Given the description of an element on the screen output the (x, y) to click on. 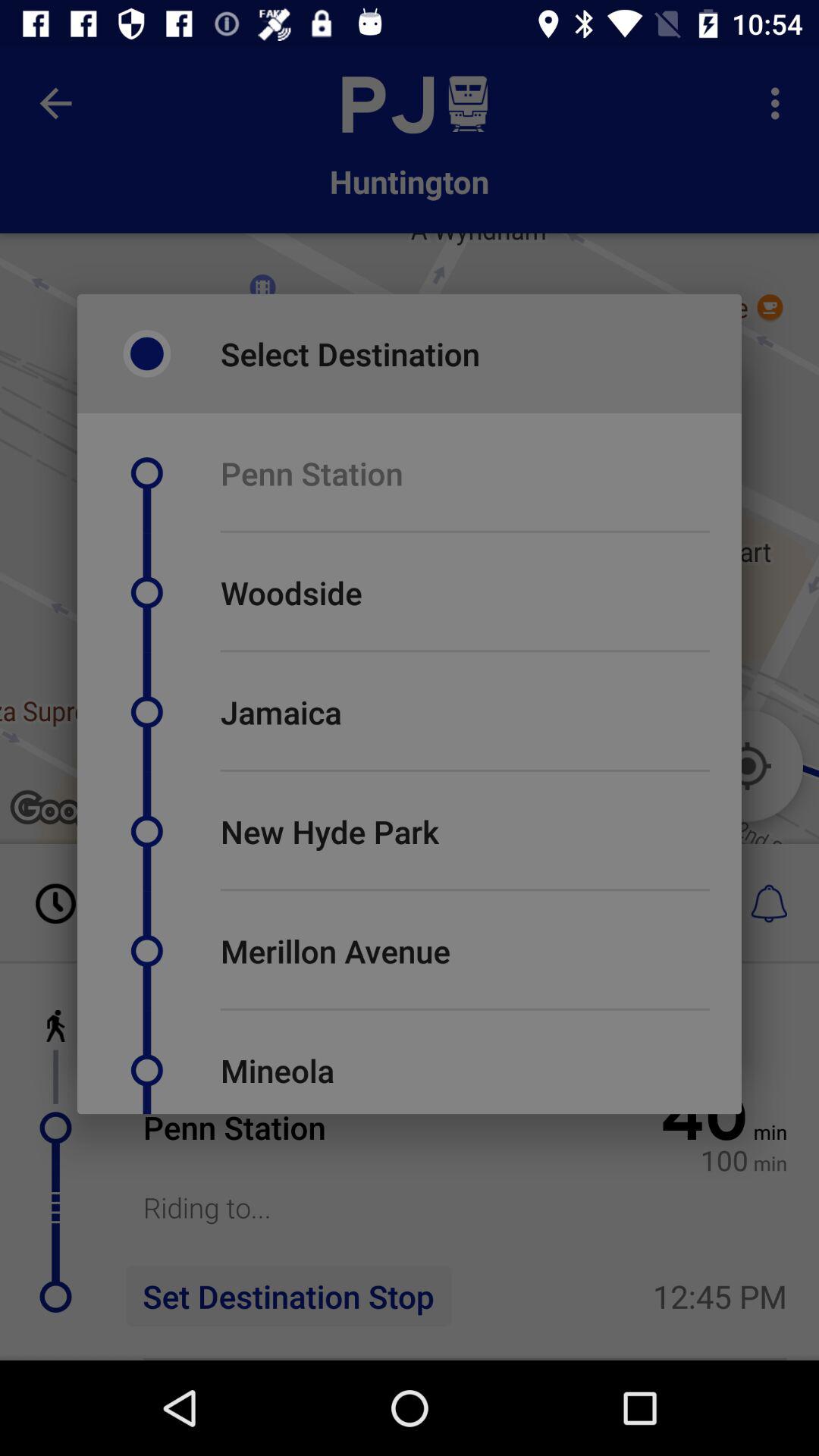
open merillon avenue icon (335, 950)
